Given the description of an element on the screen output the (x, y) to click on. 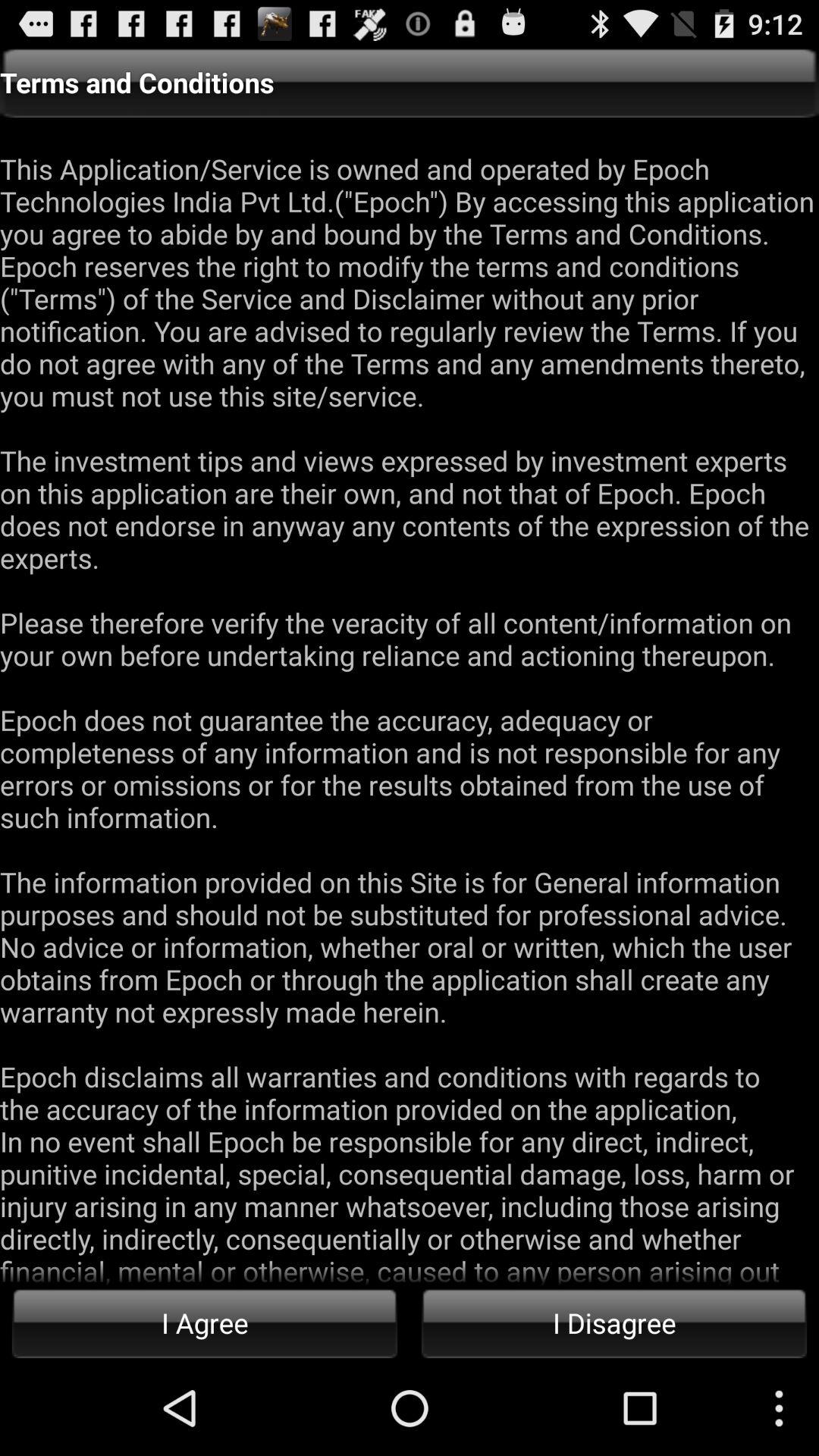
click the  i agree  item (204, 1323)
